Given the description of an element on the screen output the (x, y) to click on. 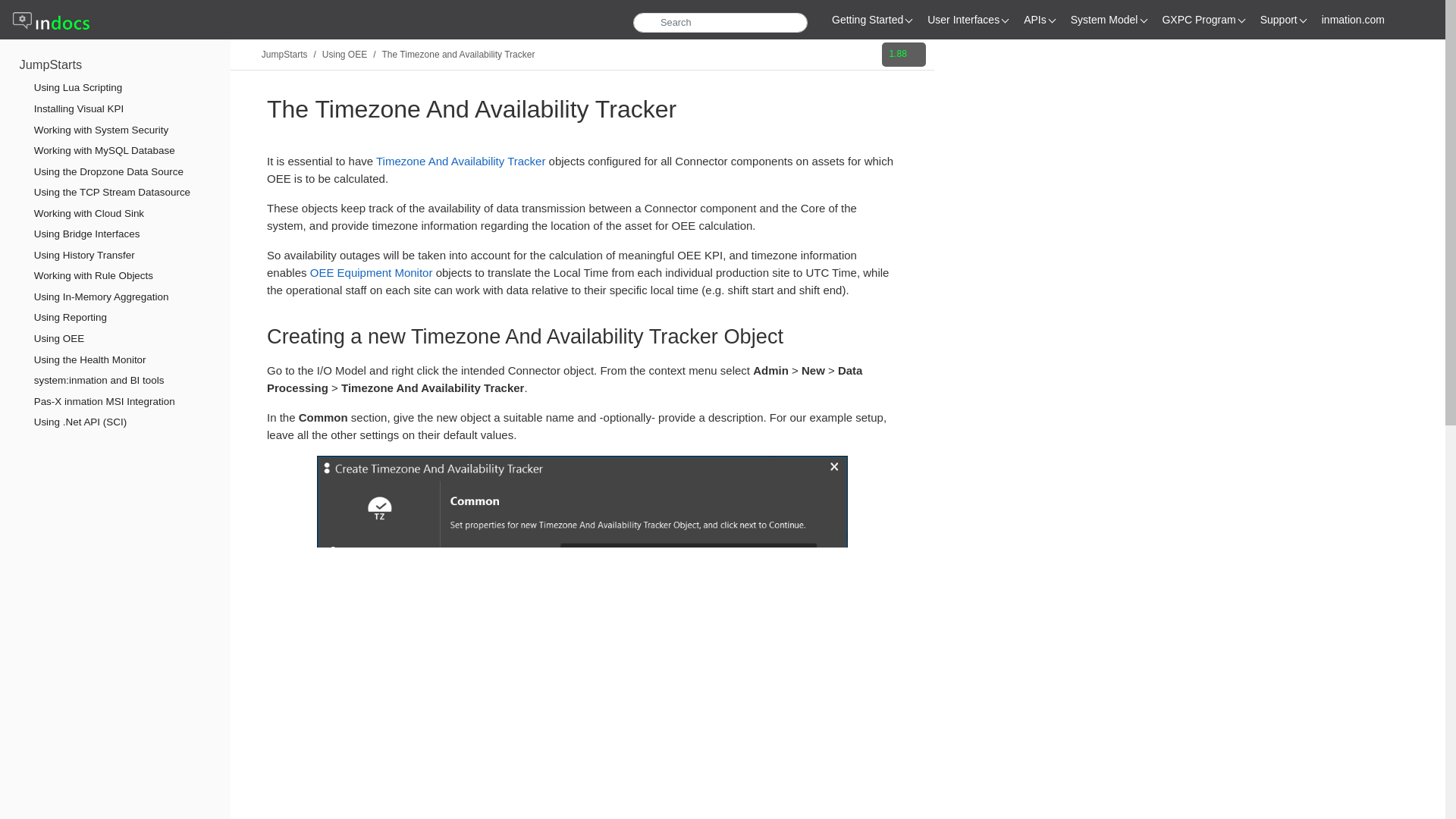
APIs (1046, 19)
GXPC Program (1210, 19)
JumpStarts (51, 64)
Using Lua Scripting (76, 87)
inmation.com (1365, 19)
Getting Started (879, 19)
Select another version (903, 54)
System Model (1115, 19)
User Interfaces (975, 19)
Support (1291, 19)
Installing Visual KPI (76, 108)
